Given the description of an element on the screen output the (x, y) to click on. 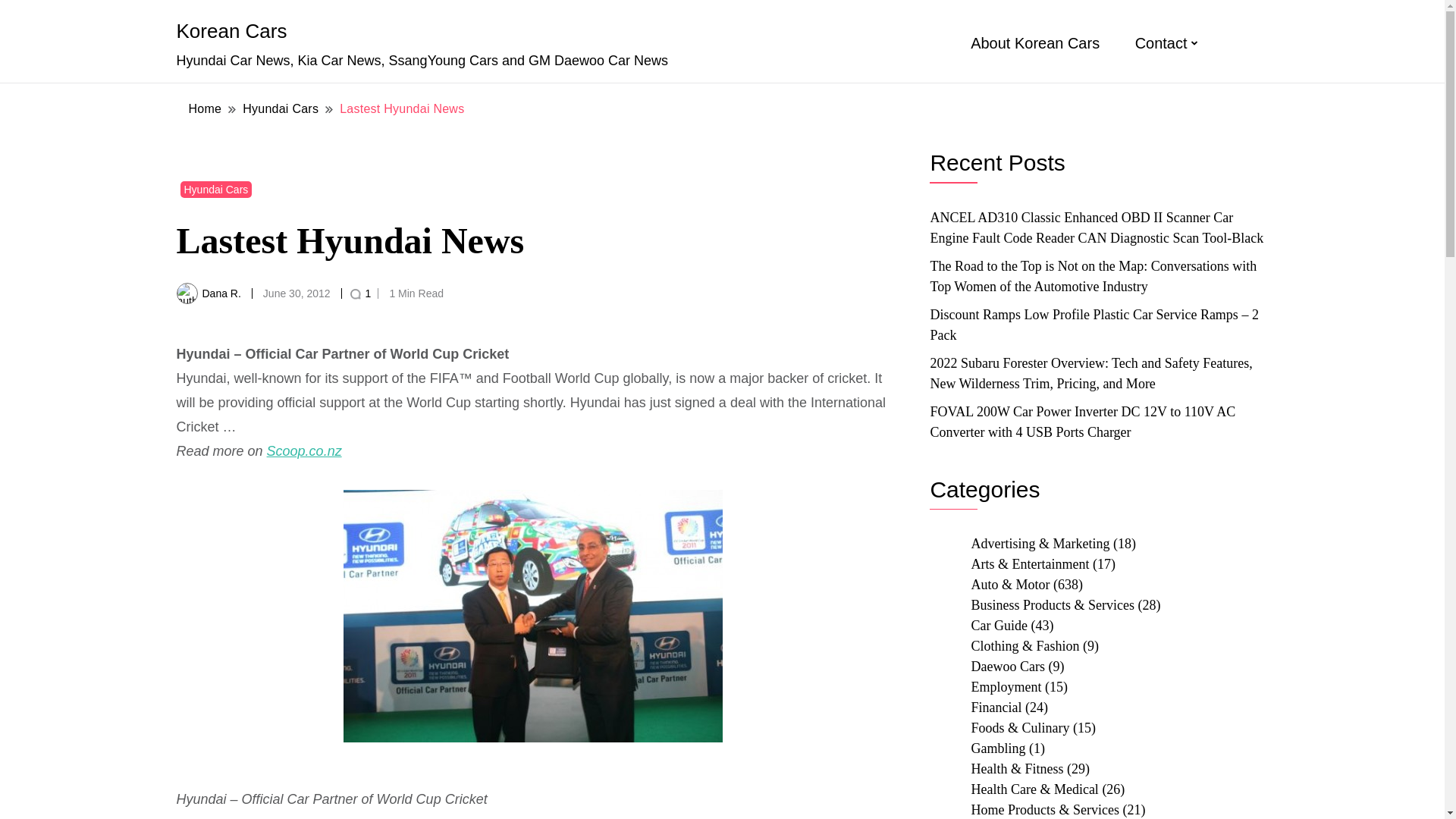
Home (204, 108)
Lastest Hyundai News (401, 108)
Contact (1161, 43)
June 30, 2012 (296, 293)
Korean Cars (231, 30)
Dana R. (221, 293)
Hyundai Cars (215, 189)
About Korean Cars (1035, 43)
Hyundai Cars (279, 108)
Scoop.co.nz (304, 450)
